Given the description of an element on the screen output the (x, y) to click on. 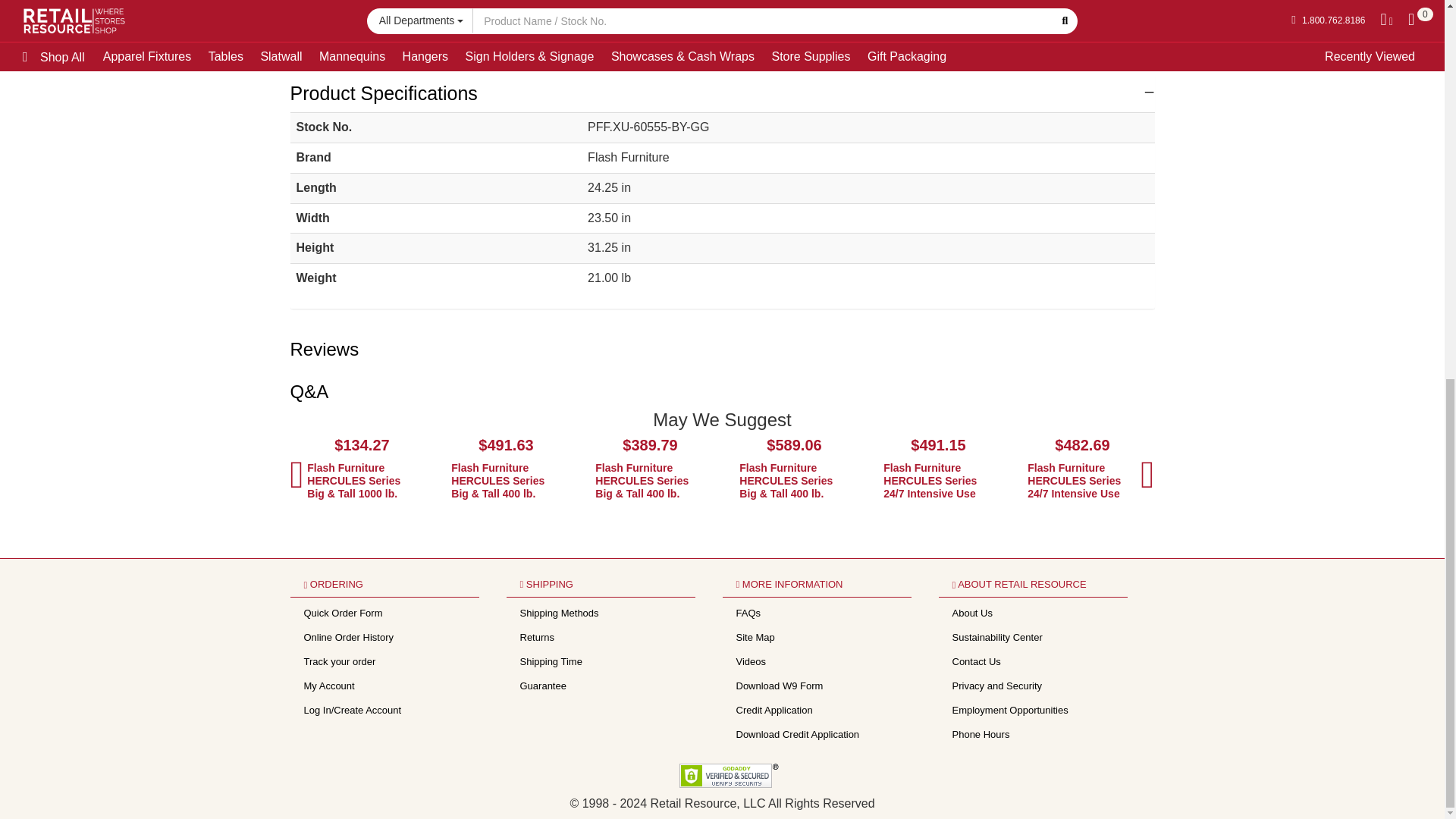
Add to Quote List (994, 1)
Share on Twitter (812, 48)
Share on Pinterest (779, 48)
Share on Facebook (745, 48)
Verified (728, 775)
